Given the description of an element on the screen output the (x, y) to click on. 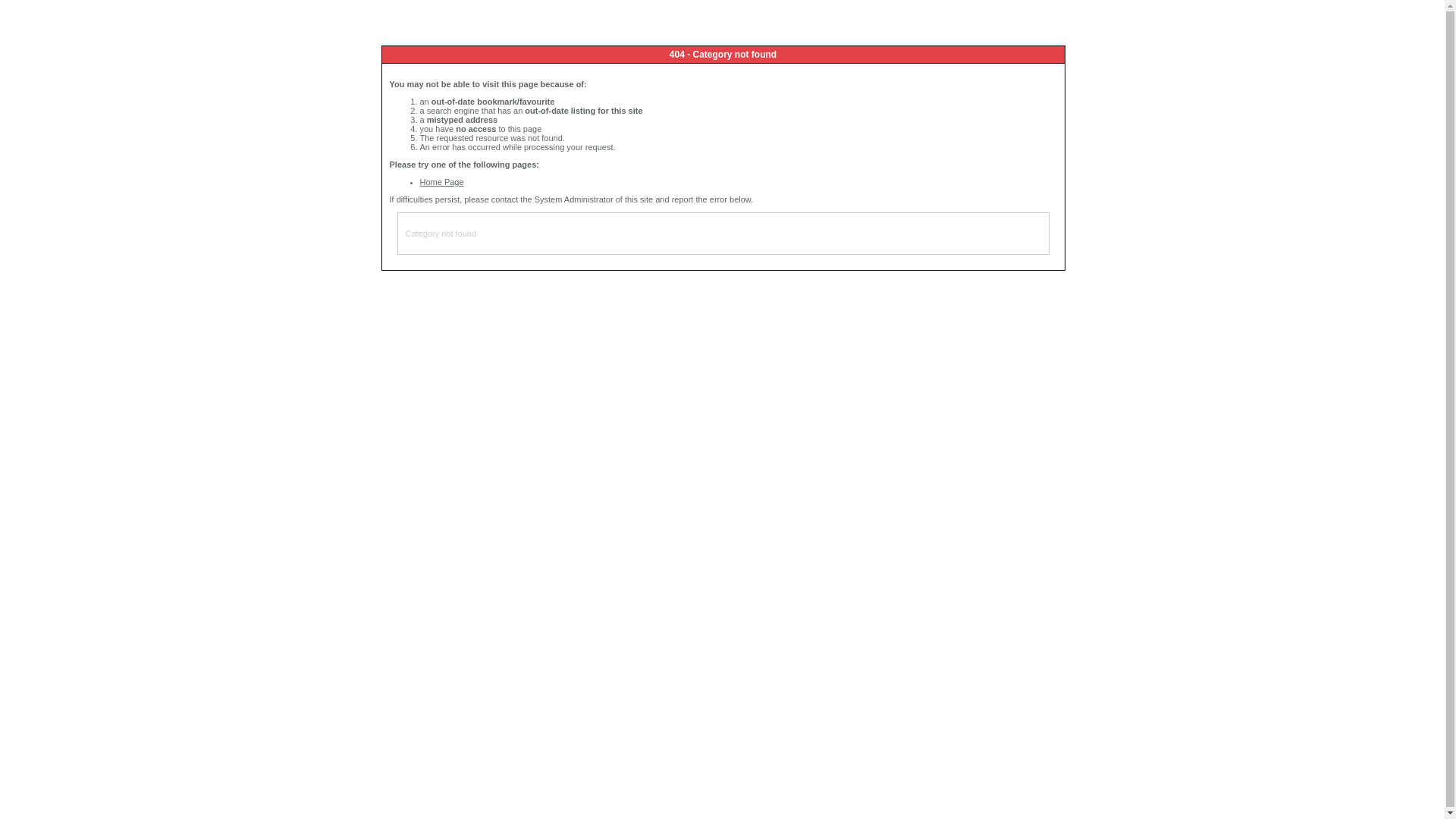
Home Page Element type: text (442, 181)
